Given the description of an element on the screen output the (x, y) to click on. 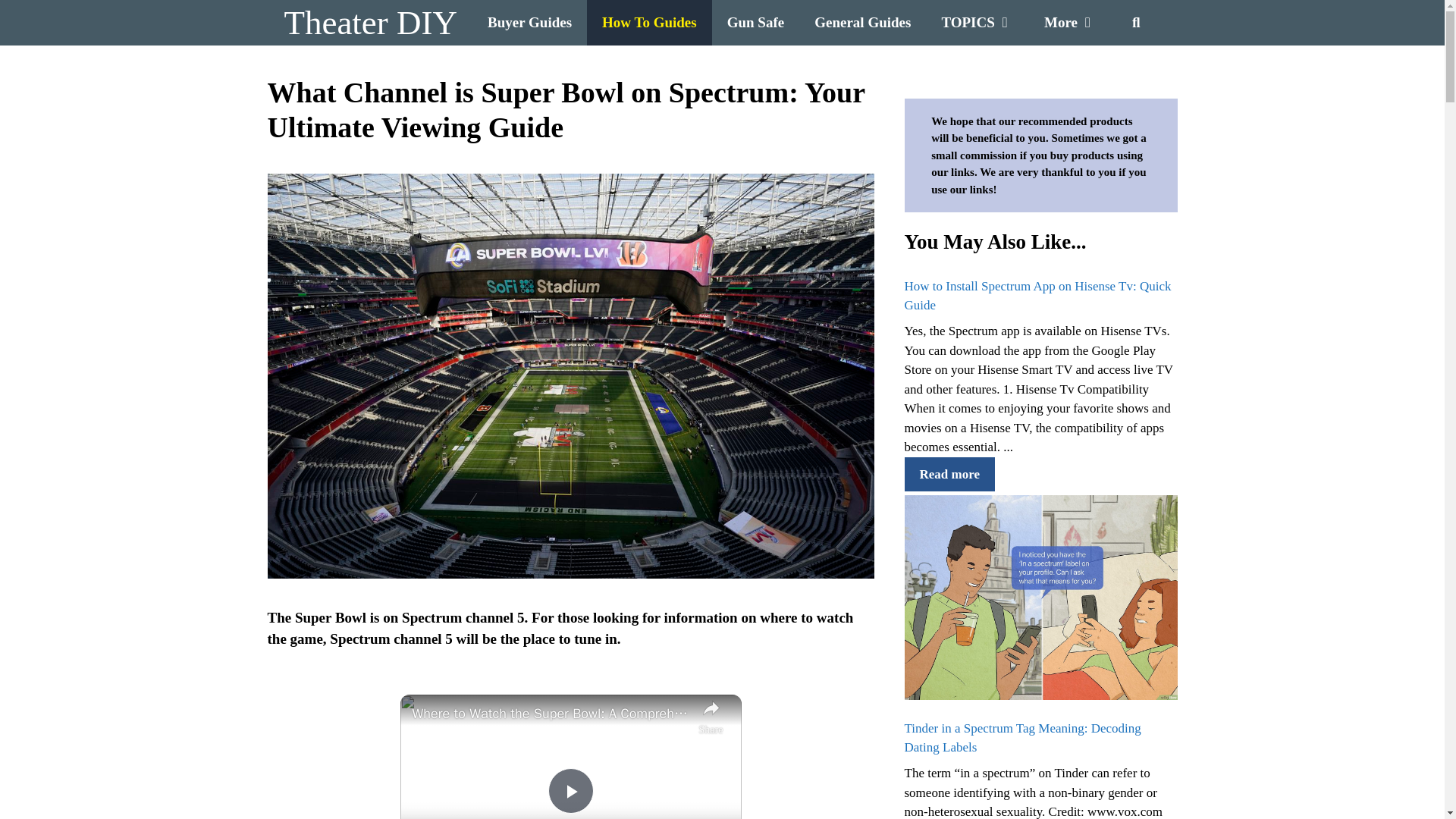
Gun Safe (755, 22)
Theater DIY (370, 22)
Buyer Guides (528, 22)
How To Guides (648, 22)
Play Video (569, 791)
General Guides (862, 22)
Play Video (569, 791)
More (1070, 22)
TOPICS (977, 22)
